Given the description of an element on the screen output the (x, y) to click on. 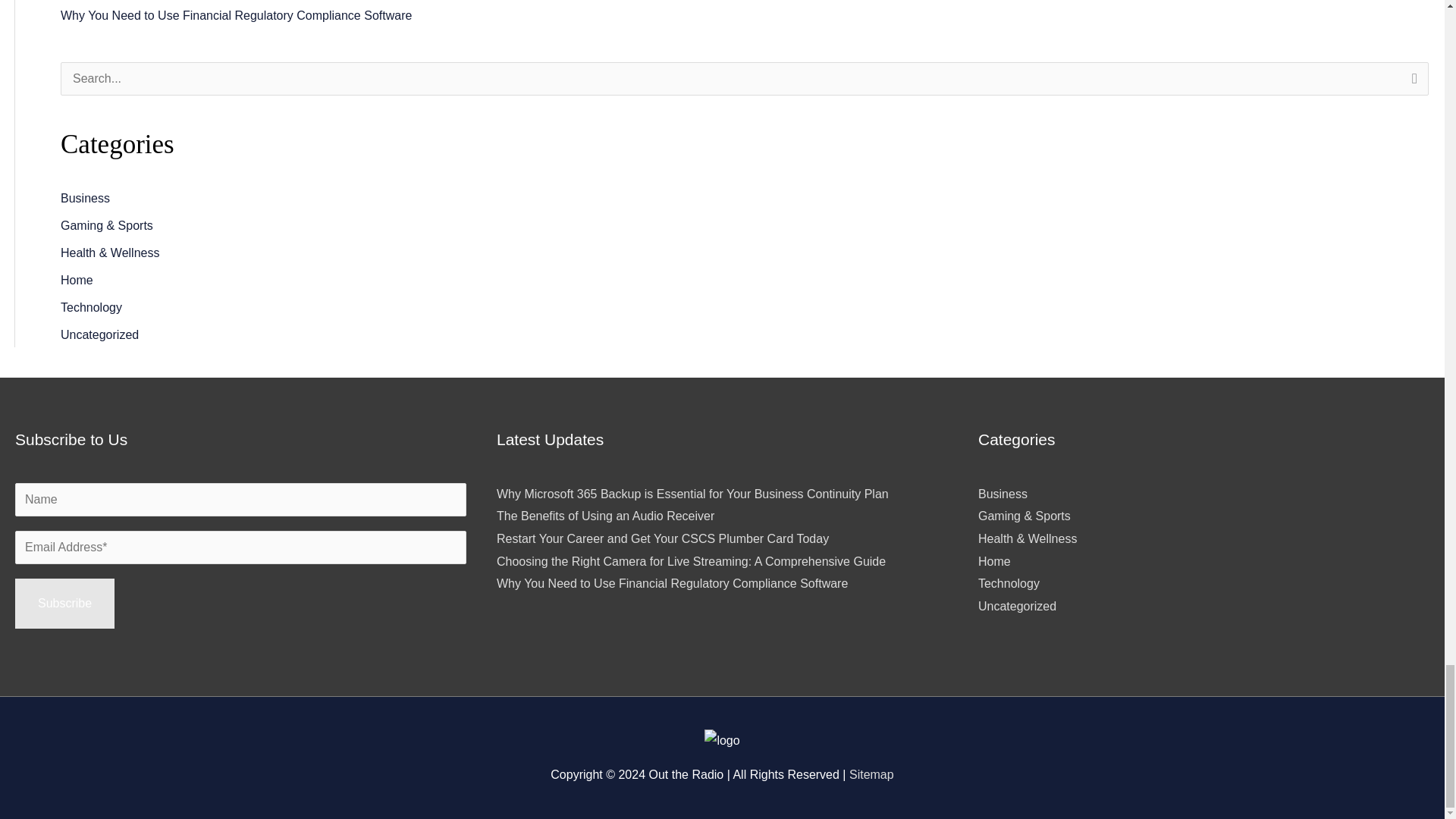
Subscribe (64, 603)
Why You Need to Use Financial Regulatory Compliance Software (236, 15)
